Given the description of an element on the screen output the (x, y) to click on. 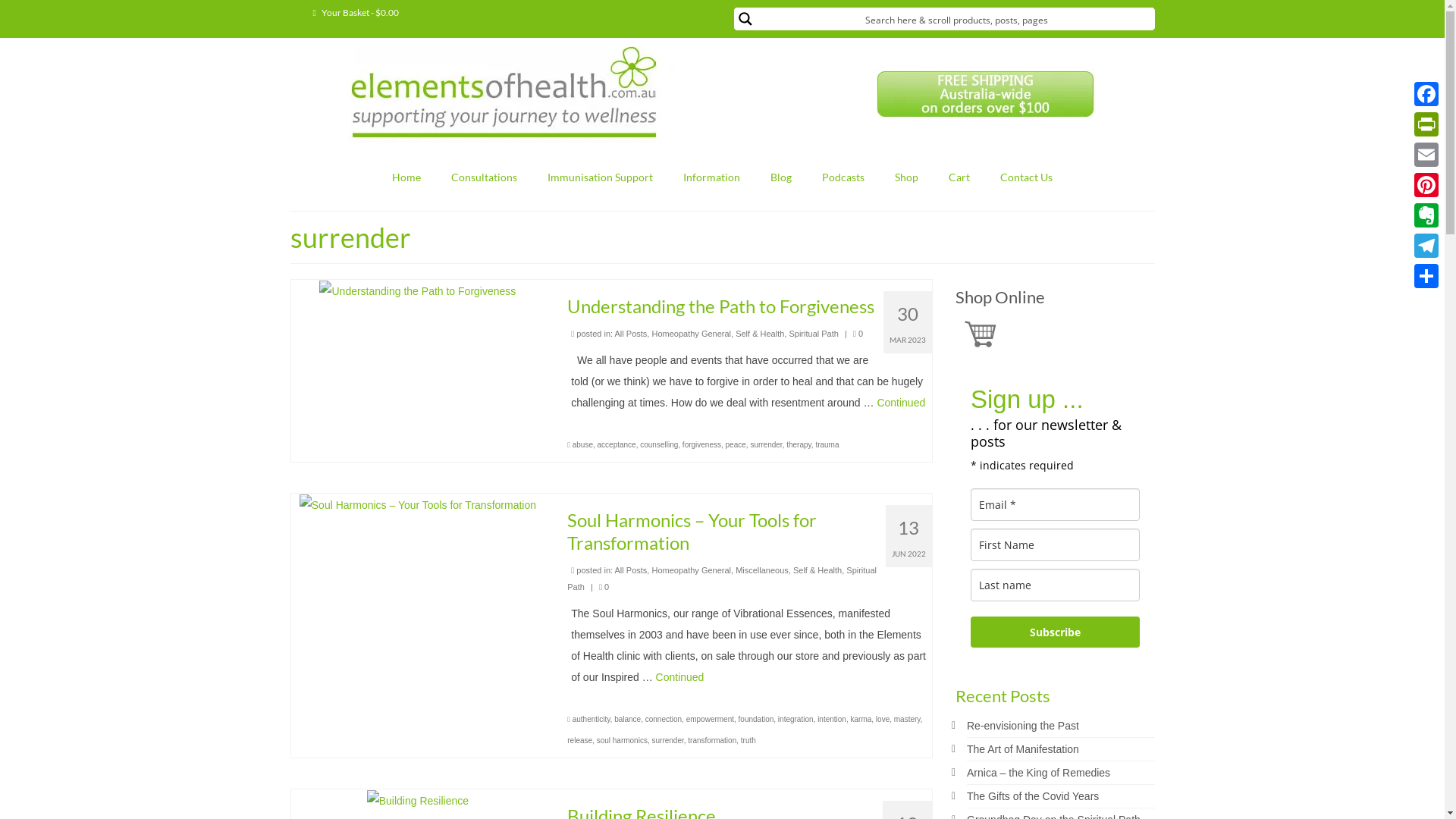
Spiritual Path Element type: text (721, 578)
love Element type: text (882, 719)
transformation Element type: text (711, 740)
Pinterest Element type: text (1426, 184)
Understanding the Path to Forgiveness Element type: text (749, 305)
Blog Element type: text (780, 177)
forgiveness Element type: text (701, 444)
Email Element type: text (1426, 154)
All Posts Element type: text (631, 333)
The Art of Manifestation Element type: text (1022, 749)
trauma Element type: text (826, 444)
surrender Element type: text (667, 740)
intention Element type: text (831, 719)
karma Element type: text (861, 719)
Cart Element type: text (959, 177)
balance Element type: text (627, 719)
Shop Online Element type: text (999, 296)
Continued Element type: text (900, 402)
abuse Element type: text (582, 444)
PrintFriendly Element type: text (1426, 124)
Subscribe Element type: text (1054, 631)
Self & Health Element type: text (817, 569)
Facebook Element type: text (1426, 93)
Contact Us Element type: text (1026, 177)
Building Resilience Element type: hover (417, 799)
Podcasts Element type: text (842, 177)
The Gifts of the Covid Years Element type: text (1032, 796)
Immunisation Support Element type: text (600, 177)
Share Element type: text (1426, 275)
acceptance Element type: text (616, 444)
Re-envisioning the Past Element type: text (1022, 725)
empowerment Element type: text (710, 719)
foundation Element type: text (756, 719)
mastery Element type: text (907, 719)
integration Element type: text (795, 719)
Shop Element type: text (906, 177)
Your Basket - $0.00 Element type: text (354, 12)
surrender Element type: text (765, 444)
Understanding the Path to Forgiveness Element type: hover (417, 290)
authenticity Element type: text (591, 719)
All Posts Element type: text (631, 569)
Home Element type: text (406, 177)
Miscellaneous Element type: text (761, 569)
truth Element type: text (748, 740)
Evernote Element type: text (1426, 215)
Homeopathy General Element type: text (691, 569)
Information Element type: text (711, 177)
Homeopathy General Element type: text (691, 333)
release Element type: text (579, 740)
Consultations Element type: text (484, 177)
Continued Element type: text (679, 677)
counselling Element type: text (658, 444)
connection Element type: text (663, 719)
peace Element type: text (735, 444)
therapy Element type: text (798, 444)
Self & Health Element type: text (759, 333)
Spiritual Path Element type: text (812, 333)
soul harmonics Element type: text (621, 740)
Telegram Element type: text (1426, 245)
